Given the description of an element on the screen output the (x, y) to click on. 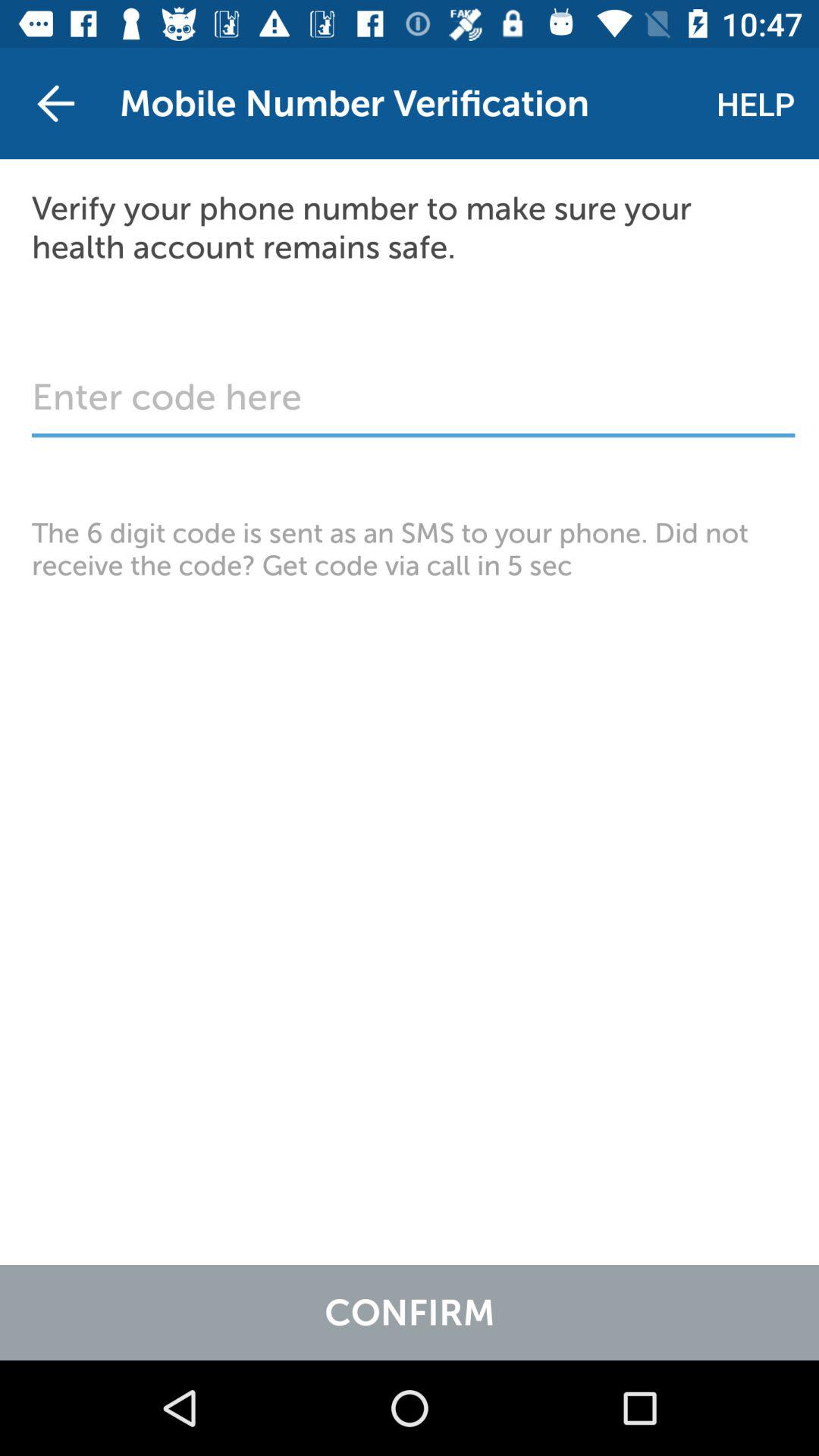
select the item to the left of the mobile number verification app (55, 103)
